Given the description of an element on the screen output the (x, y) to click on. 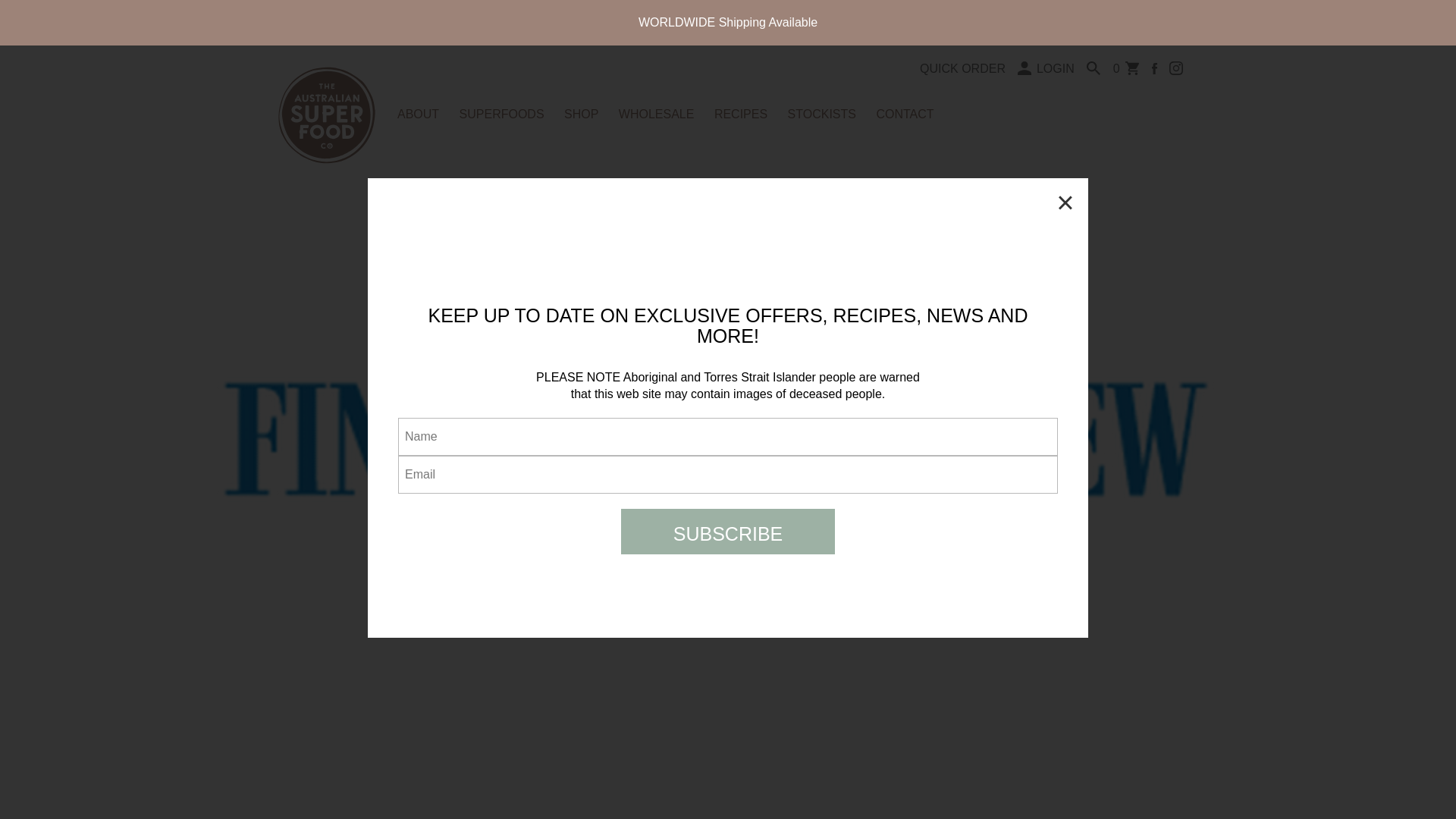
CONTACT (904, 113)
SHOP (581, 113)
Subscribe (727, 531)
WHOLESALE (656, 113)
Name (727, 436)
STOCKISTS (821, 113)
SUPERFOODS (502, 113)
Subscribe (727, 531)
QUICK ORDER (963, 68)
ABOUT (418, 113)
LOGIN (1045, 68)
RECIPES (740, 113)
0 (1125, 68)
Email (727, 474)
